Given the description of an element on the screen output the (x, y) to click on. 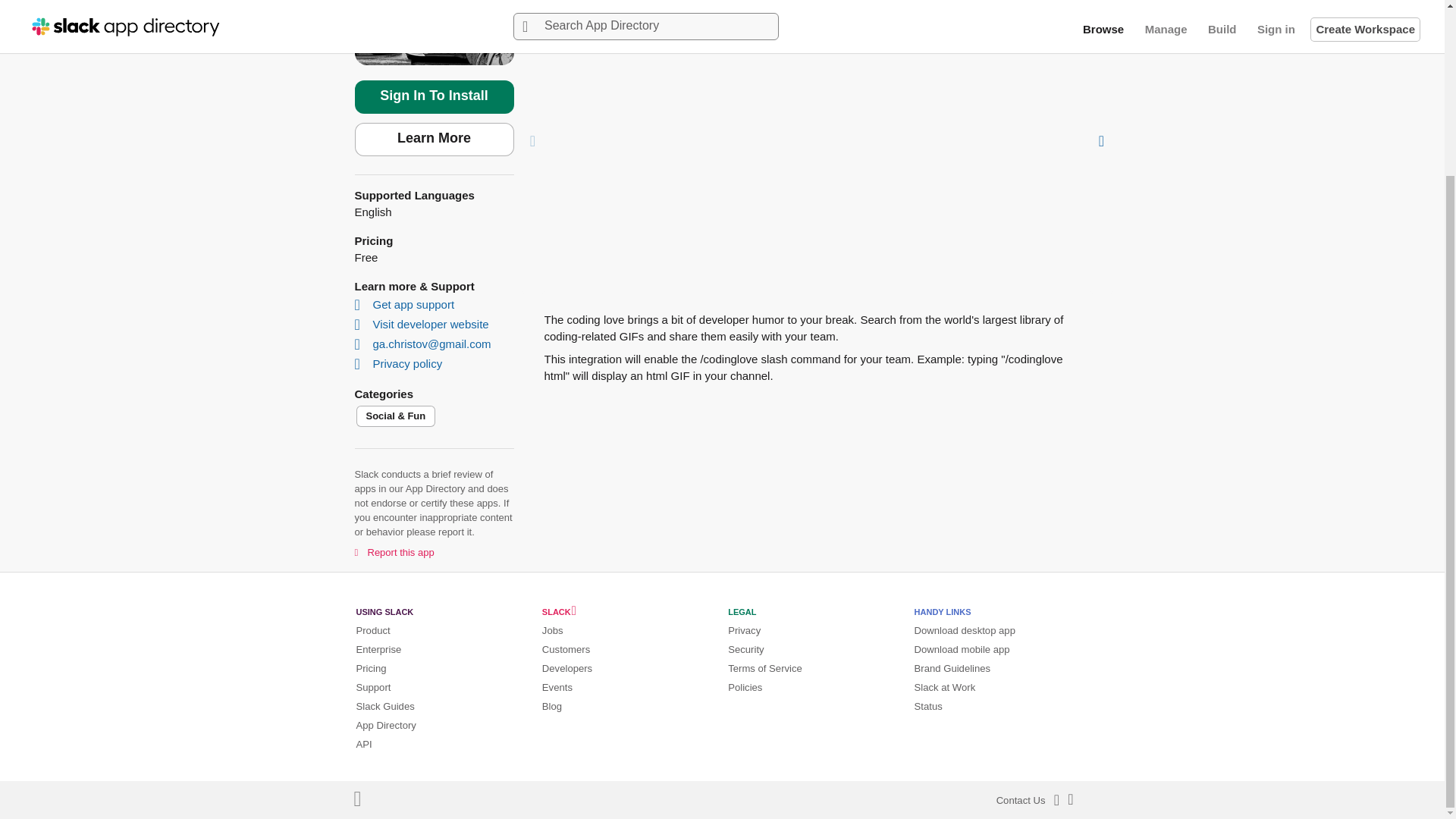
Learn More (434, 139)
Get app support (406, 304)
Sign In To Install (434, 96)
Visit developer website (423, 323)
Privacy policy (400, 363)
Report this app (394, 550)
